Given the description of an element on the screen output the (x, y) to click on. 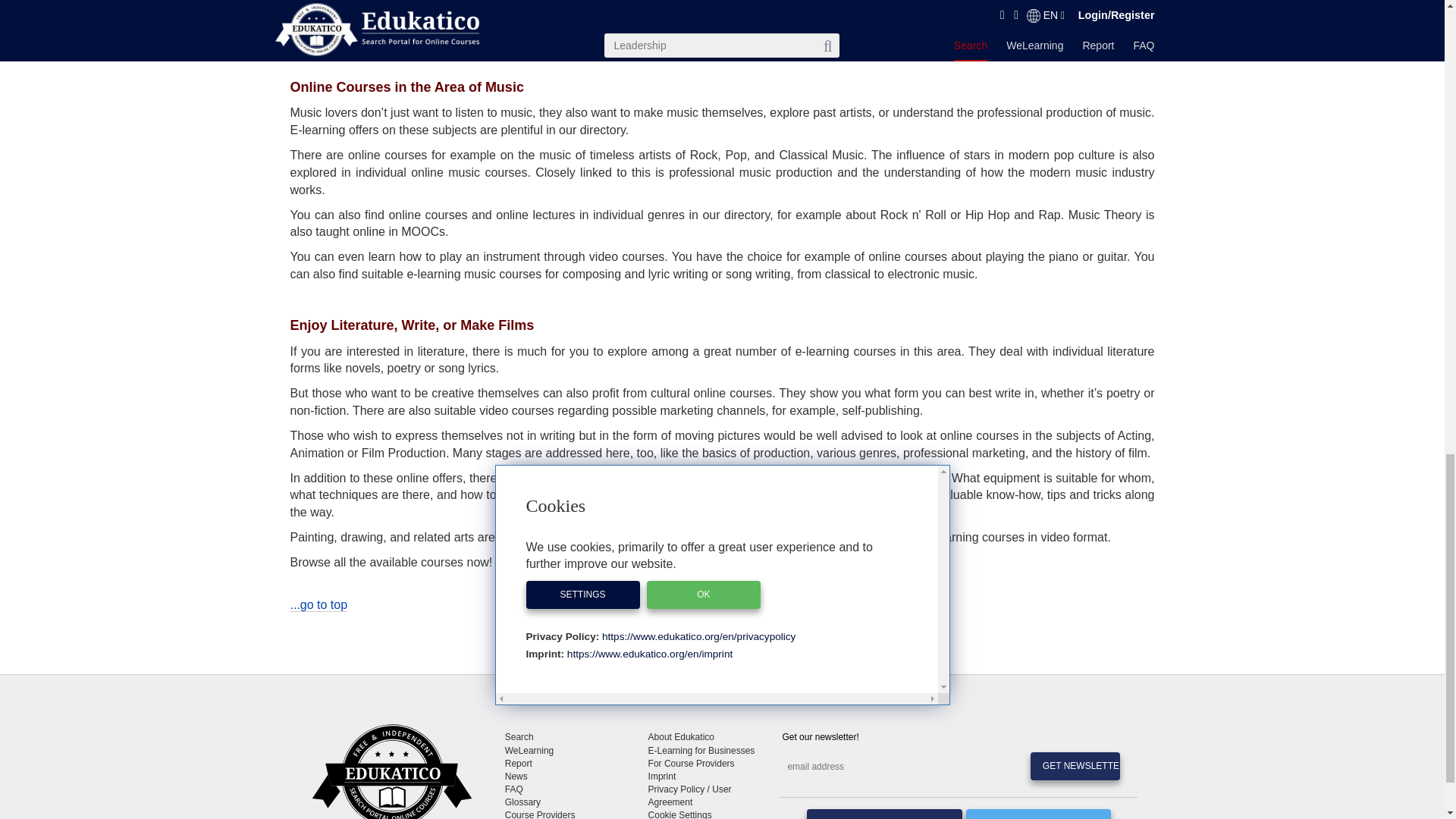
Get newsletter (1074, 766)
